Given the description of an element on the screen output the (x, y) to click on. 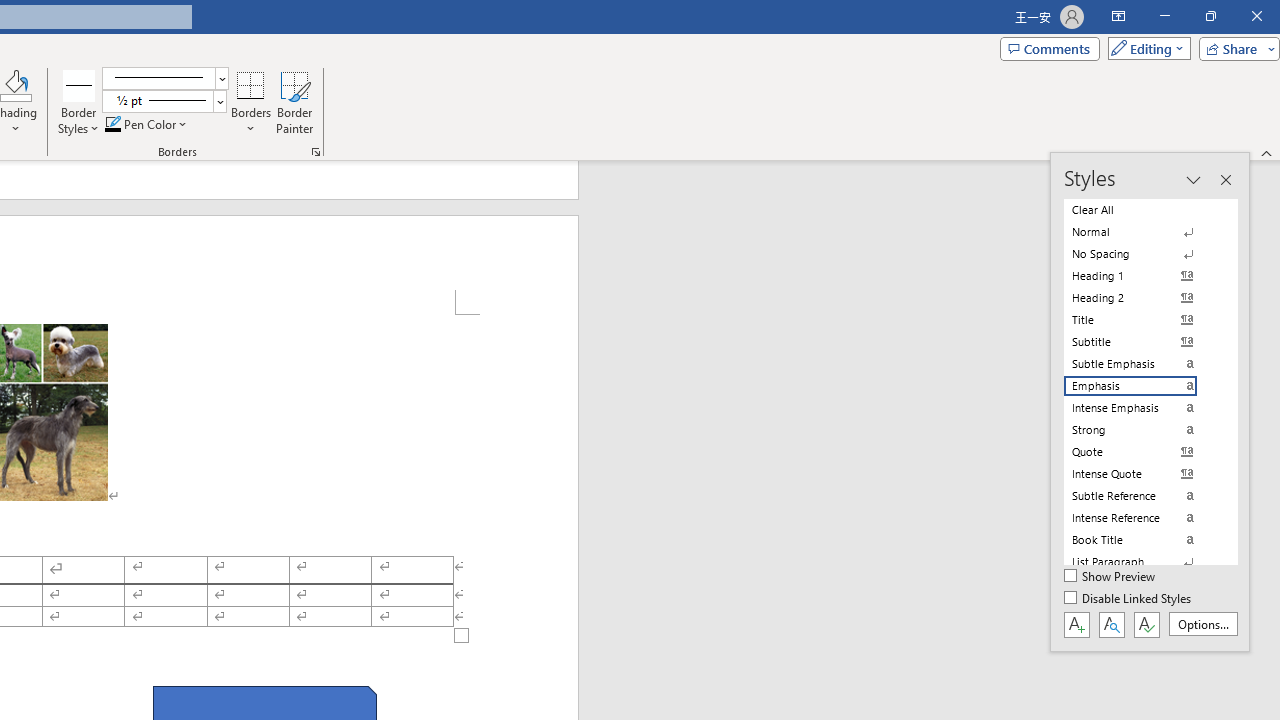
Subtitle (1142, 341)
